Given the description of an element on the screen output the (x, y) to click on. 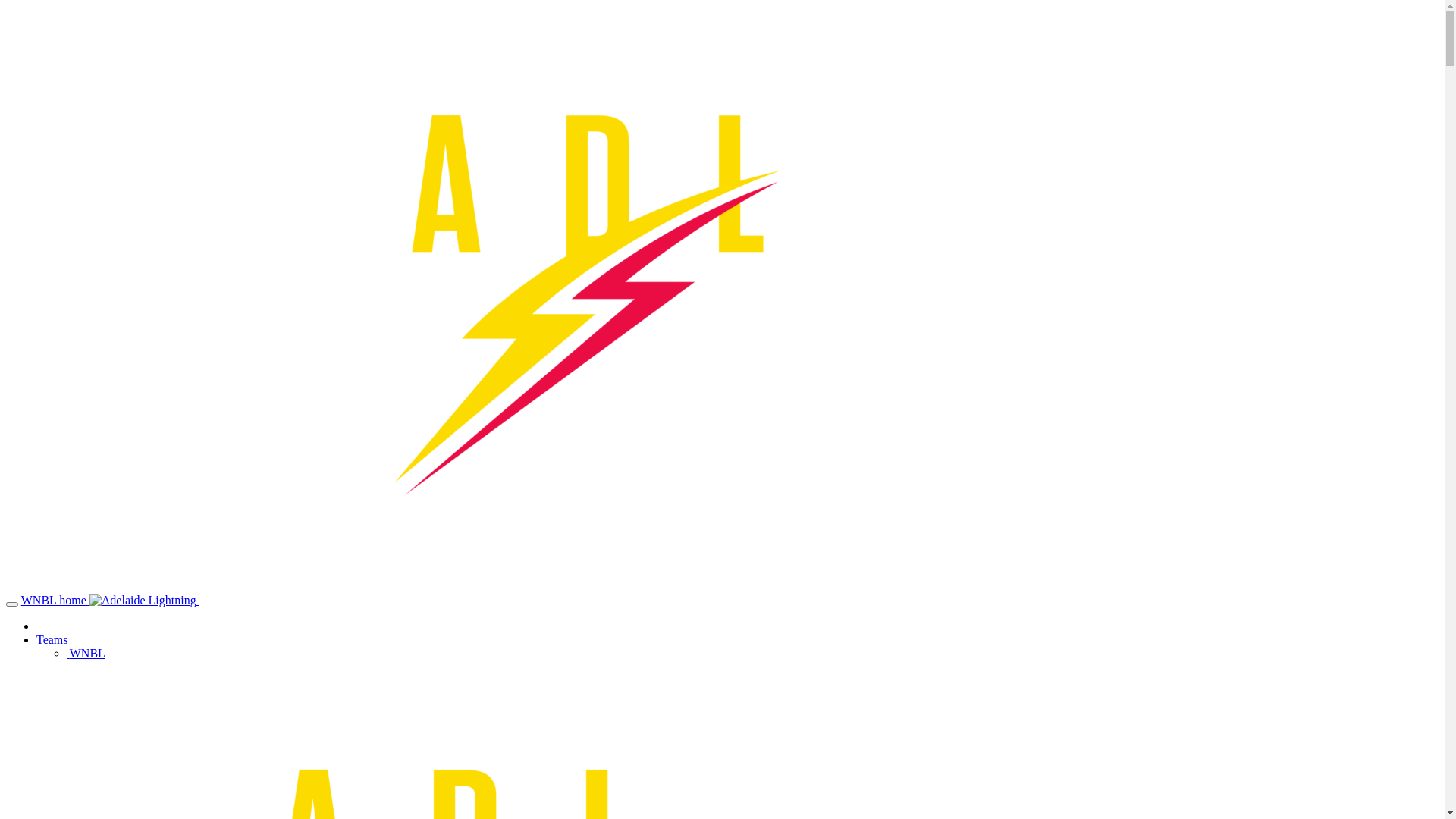
Teams Element type: text (52, 639)
WNBL Element type: text (85, 652)
WNBL home Element type: text (498, 599)
